Given the description of an element on the screen output the (x, y) to click on. 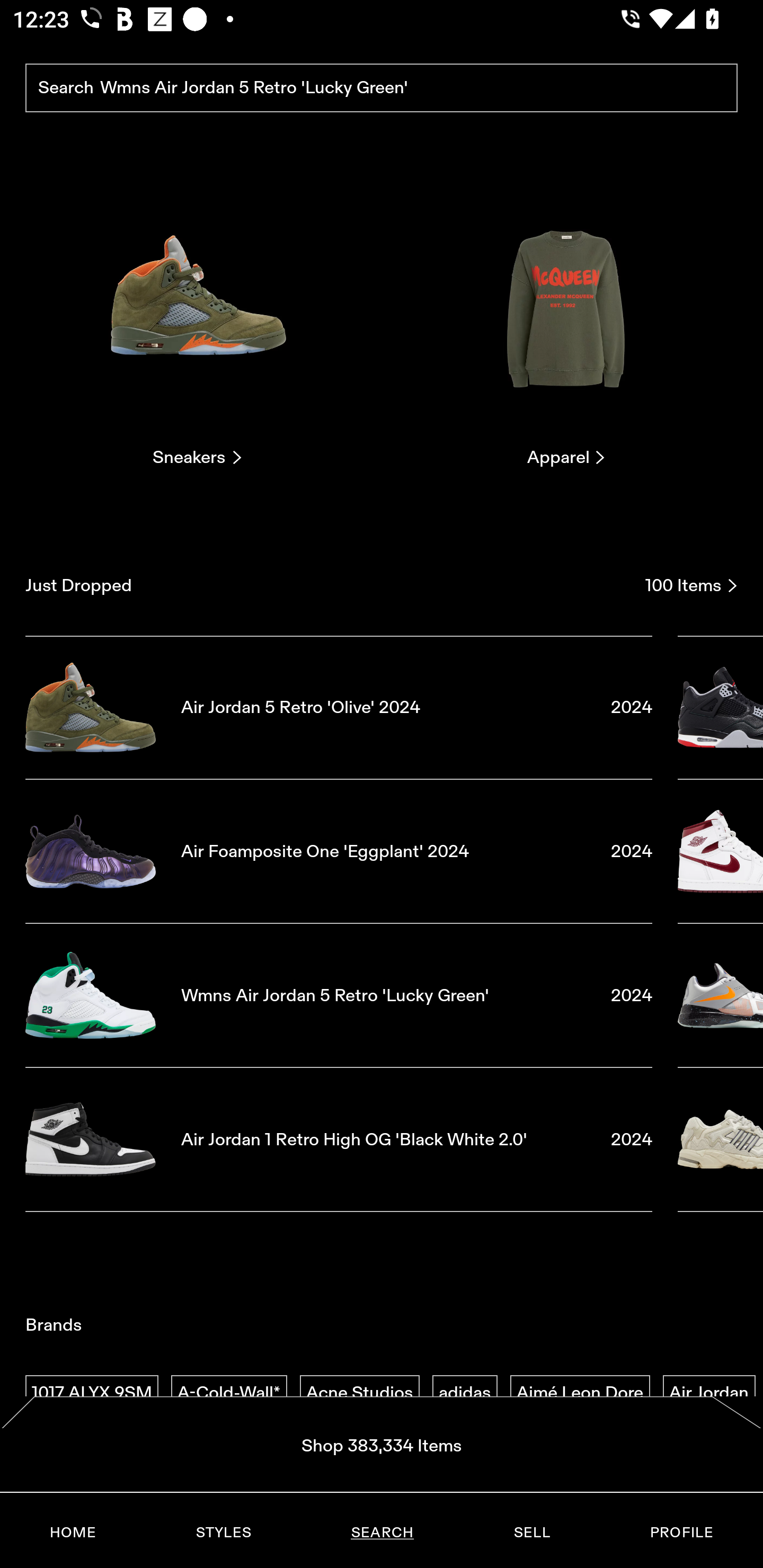
Search (381, 88)
Sneakers (196, 323)
Apparel (565, 323)
Just Dropped (328, 585)
100 Items (691, 585)
Air Jordan 5 Retro 'Olive' 2024 2024 (338, 707)
Air Foamposite One 'Eggplant' 2024 2024 (338, 851)
Wmns Air Jordan 5 Retro 'Lucky Green' 2024 (338, 995)
Air Jordan 1 Retro High OG 'Black White 2.0' 2024 (338, 1139)
1017 ALYX 9SM (91, 1393)
A-Cold-Wall* (228, 1393)
Acne Studios (359, 1393)
adidas (464, 1393)
Aimé Leon Dore (580, 1393)
Air Jordan (709, 1393)
HOME (72, 1532)
STYLES (222, 1532)
SEARCH (381, 1532)
SELL (531, 1532)
PROFILE (681, 1532)
